Given the description of an element on the screen output the (x, y) to click on. 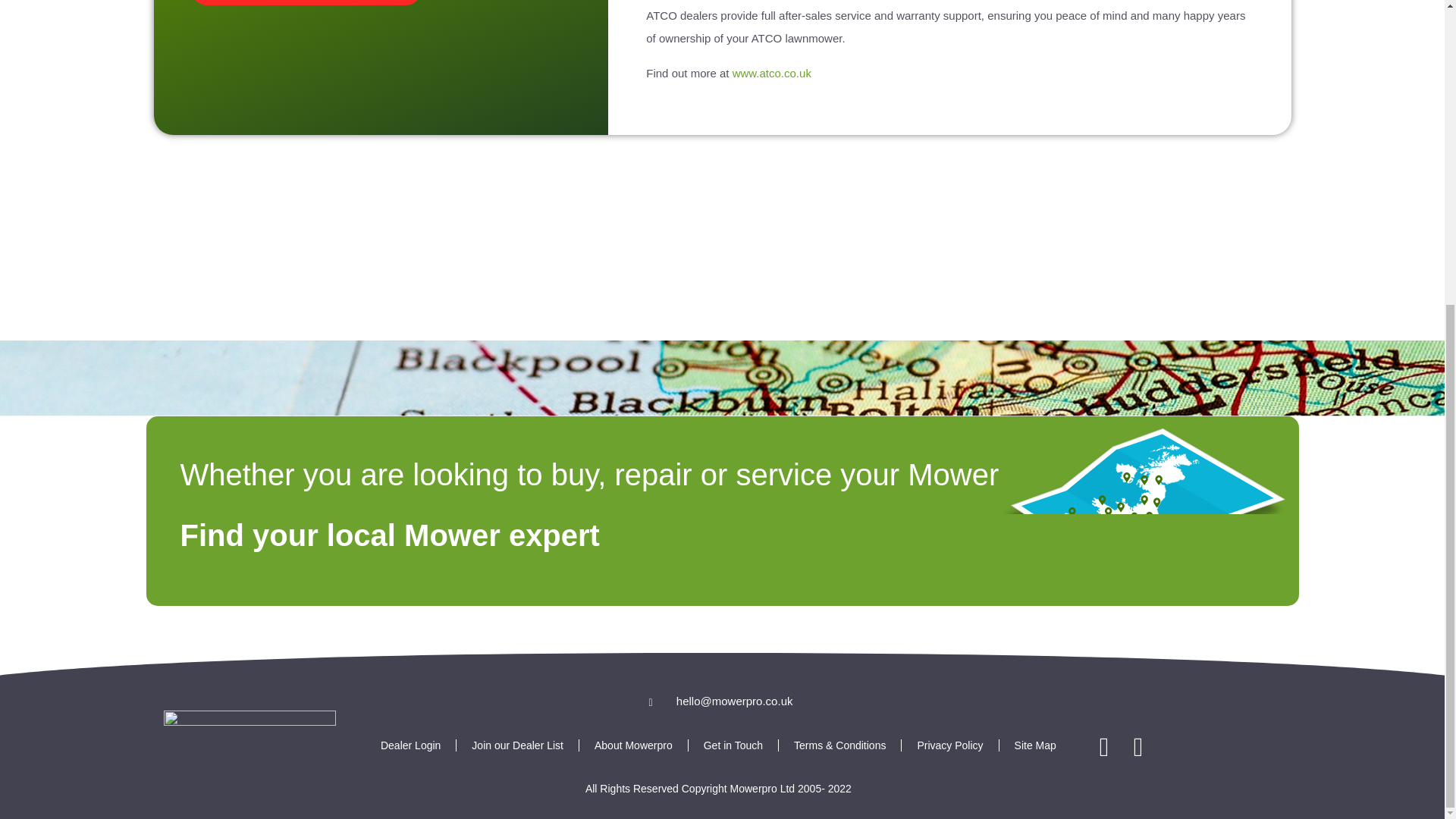
Get in Touch (732, 745)
Site Map (1034, 745)
About Mowerpro (633, 745)
Dealer Login (410, 745)
Privacy Policy (949, 745)
Join our Dealer List (517, 745)
FIND YOUR LOCAL EXPERT NOW (305, 2)
www.atco.co.uk (771, 72)
